Given the description of an element on the screen output the (x, y) to click on. 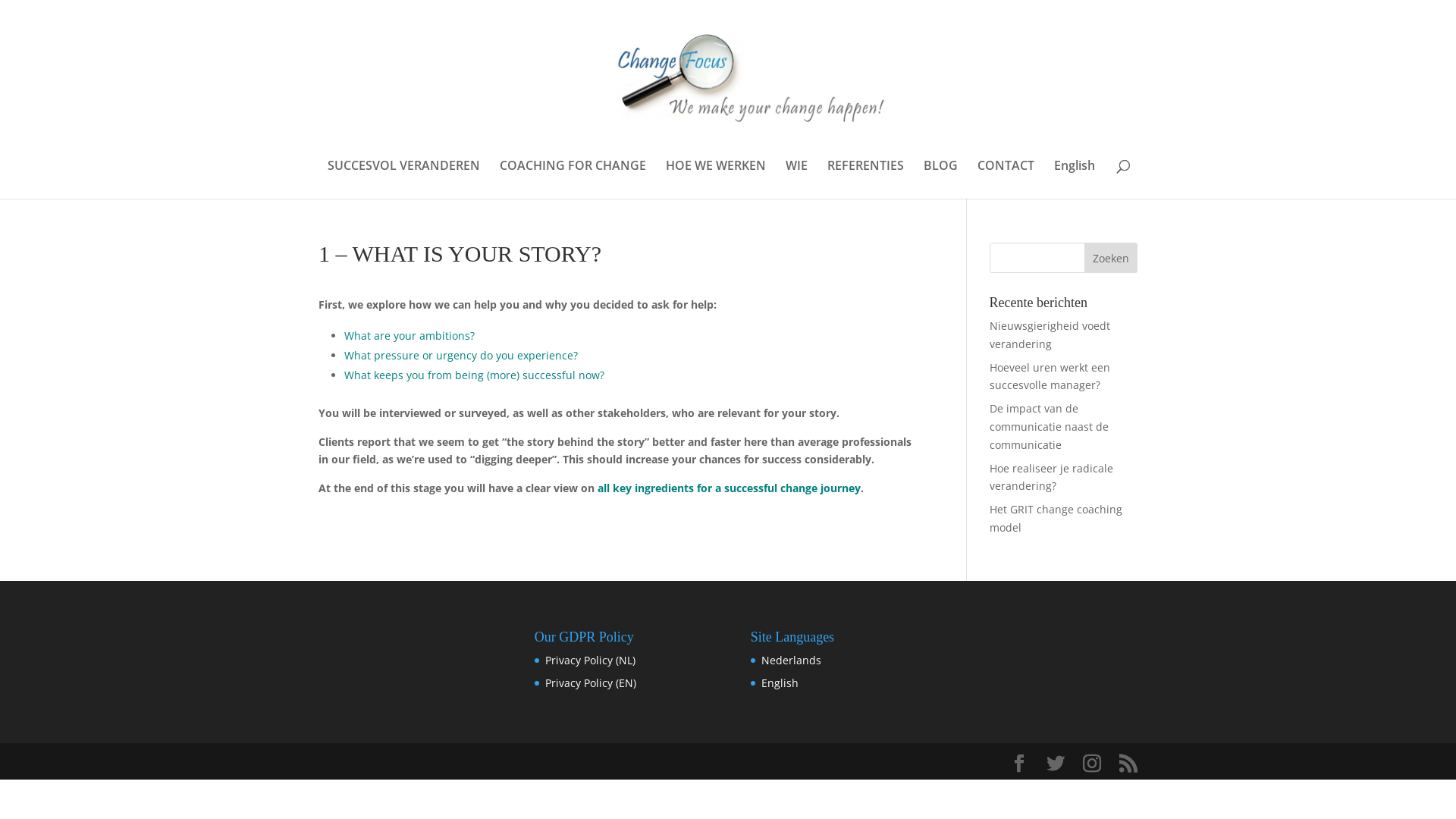
HOE WE WERKEN Element type: text (715, 179)
Nederlands Element type: text (791, 659)
Nieuwsgierigheid voedt verandering Element type: text (1049, 334)
CONTACT Element type: text (1005, 179)
English Element type: text (1074, 179)
WIE Element type: text (796, 179)
De impact van de communicatie naast de communicatie Element type: text (1048, 426)
COACHING FOR CHANGE Element type: text (572, 179)
BLOG Element type: text (940, 179)
Hoe realiseer je radicale verandering? Element type: text (1051, 477)
English Element type: text (779, 682)
Privacy Policy (EN) Element type: text (590, 682)
Privacy Policy (NL) Element type: text (590, 659)
Het GRIT change coaching model Element type: text (1055, 518)
Hoeveel uren werkt een succesvolle manager? Element type: text (1049, 376)
SUCCESVOL VERANDEREN Element type: text (403, 179)
Zoeken Element type: text (1110, 257)
REFERENTIES Element type: text (865, 179)
